Given the description of an element on the screen output the (x, y) to click on. 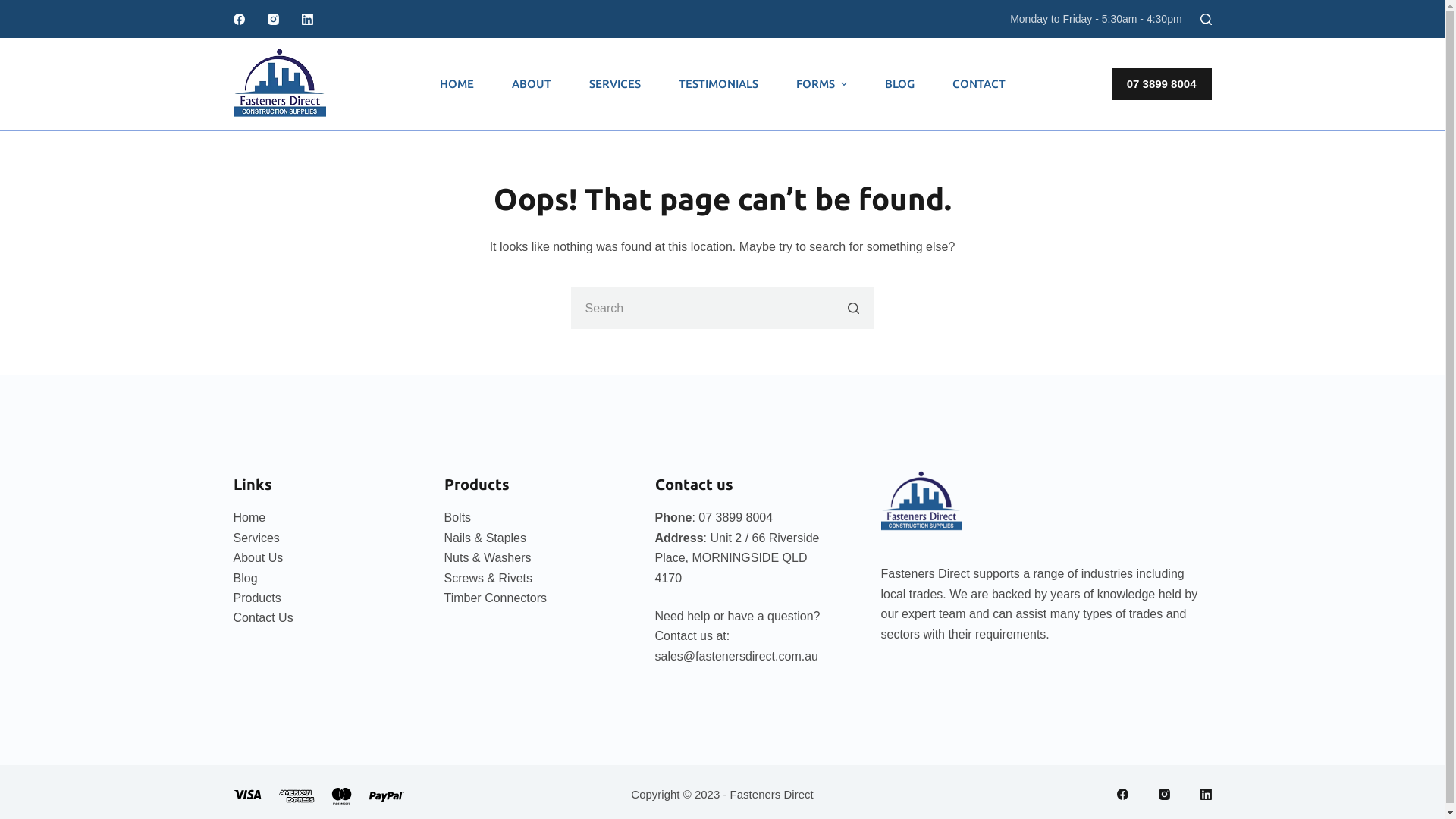
Skip to content Element type: text (15, 7)
BLOG Element type: text (899, 83)
CONTACT Element type: text (977, 83)
Screws & Rivets Element type: text (488, 577)
SERVICES Element type: text (614, 83)
Timber Connectors Element type: text (495, 597)
Nuts & Washers Element type: text (487, 557)
Search for... Element type: hover (721, 308)
07 3899 8004 Element type: text (1161, 84)
FORMS Element type: text (820, 83)
Blog Element type: text (245, 577)
Services Element type: text (256, 537)
Nails & Staples Element type: text (485, 537)
TESTIMONIALS Element type: text (718, 83)
Contact Us Element type: text (263, 617)
HOME Element type: text (456, 83)
About Us Element type: text (258, 557)
ABOUT Element type: text (531, 83)
Home Element type: text (249, 517)
